Given the description of an element on the screen output the (x, y) to click on. 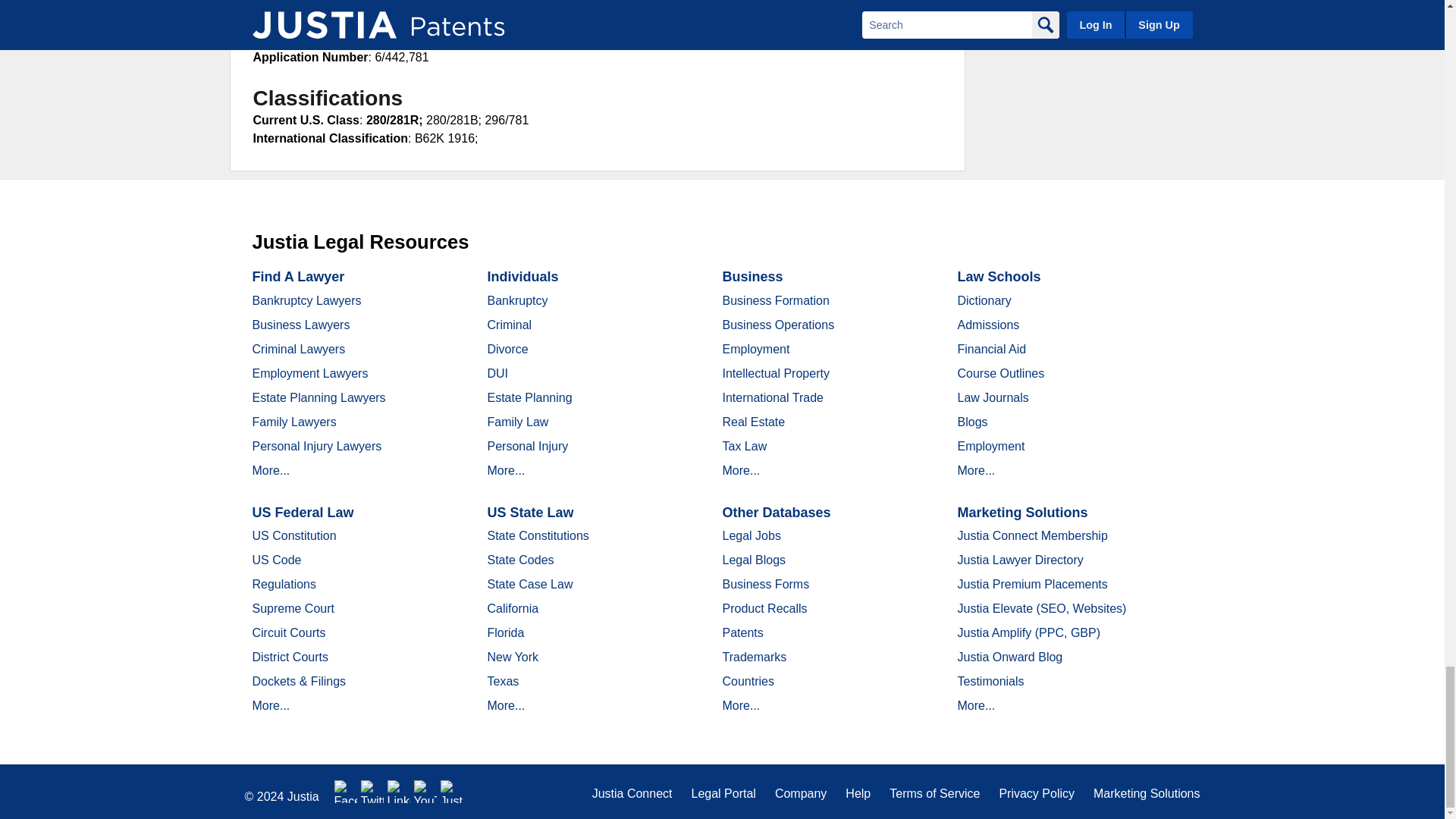
LinkedIn (398, 791)
Facebook (345, 791)
Twitter (372, 791)
Joseph F. Peters, Jr. (416, 4)
YouTube (424, 791)
Mitchell J. Hill (409, 20)
Justia Lawyer Directory (452, 791)
